Given the description of an element on the screen output the (x, y) to click on. 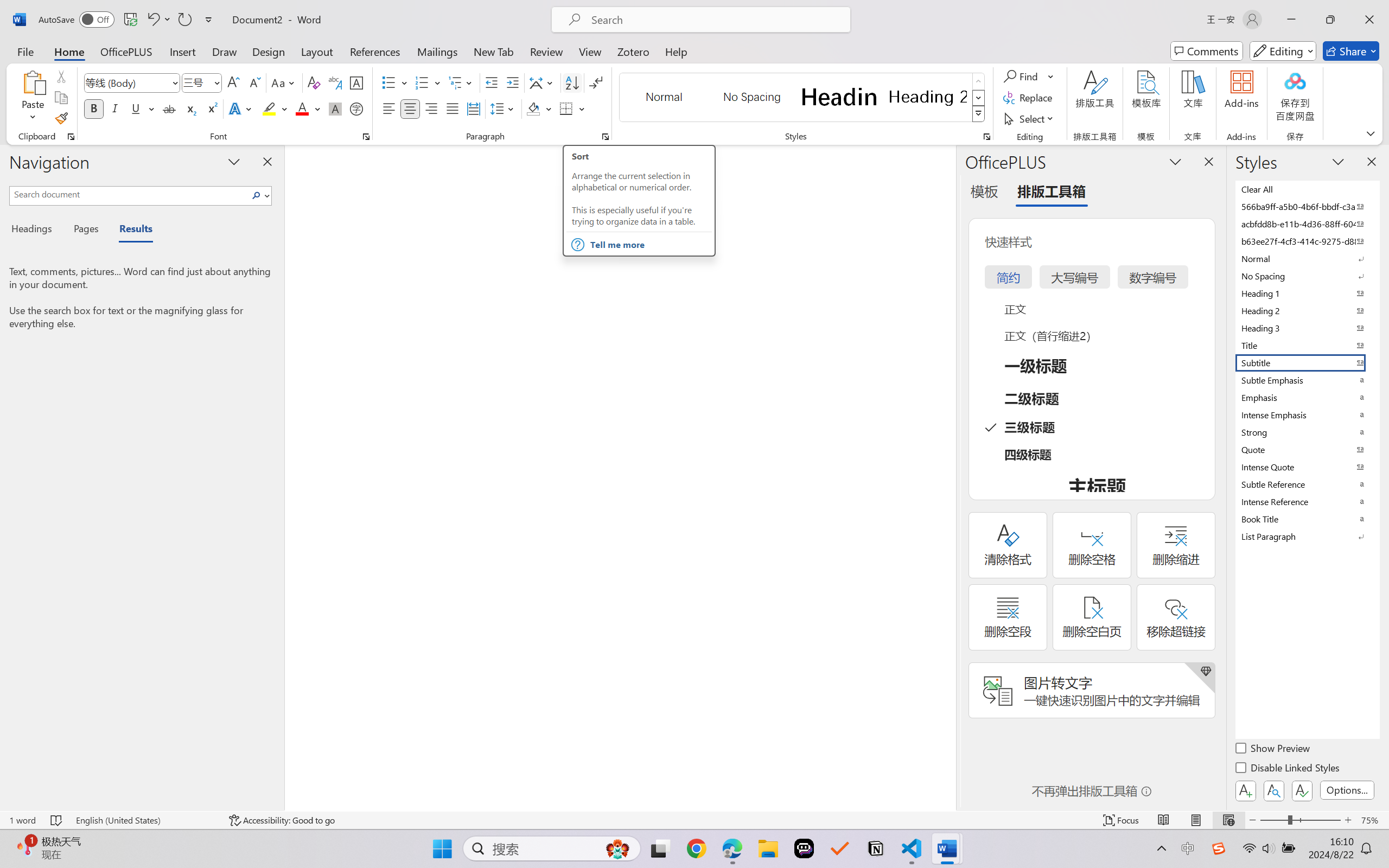
Go (128, 10)
Terminal 2 Python (1357, 670)
Timeline Section (94, 823)
Find (1135, 65)
More Actions... (1376, 31)
No Problems (35, 836)
Testing (13, 179)
Selection (76, 10)
Toggle Secondary Side Bar (Ctrl+Alt+B) (1292, 9)
Match Whole Word (Alt+W) (1194, 65)
Explorer actions (112, 31)
Toggle Replace (1088, 64)
Split Editor Right (Ctrl+\) [Alt] Split Editor Down (1362, 31)
